Given the description of an element on the screen output the (x, y) to click on. 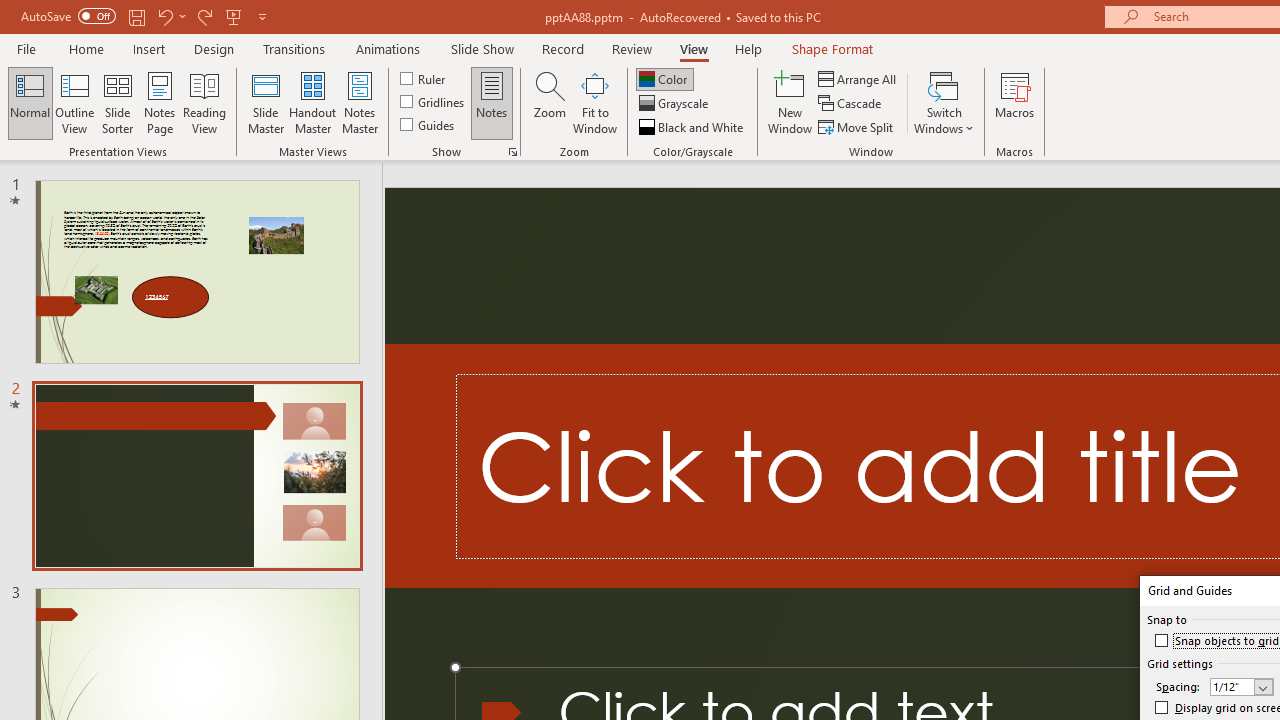
Shape Format (832, 48)
New Window (790, 102)
Gridlines (433, 101)
Spacing (1241, 687)
Macros (1014, 102)
Move Split (857, 126)
Grid Settings... (512, 151)
Black and White (693, 126)
